Given the description of an element on the screen output the (x, y) to click on. 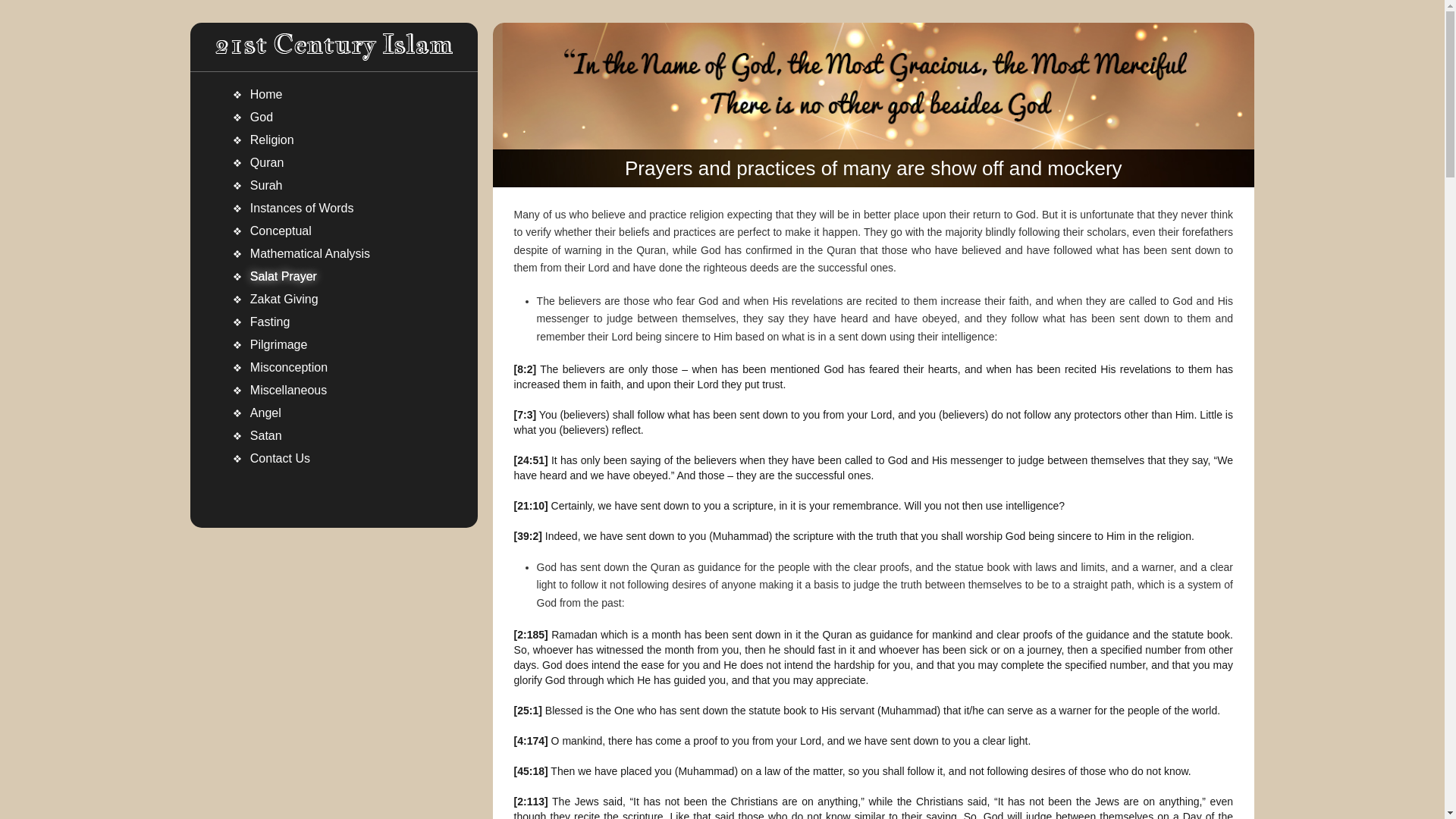
Fasting (332, 322)
Misconception (332, 367)
Contact Us (332, 458)
Home (332, 94)
Miscellaneous (332, 390)
Angel (332, 413)
Instances of Words (332, 208)
Religion (332, 139)
Conceptual (332, 231)
Pilgrimage (332, 344)
